Given the description of an element on the screen output the (x, y) to click on. 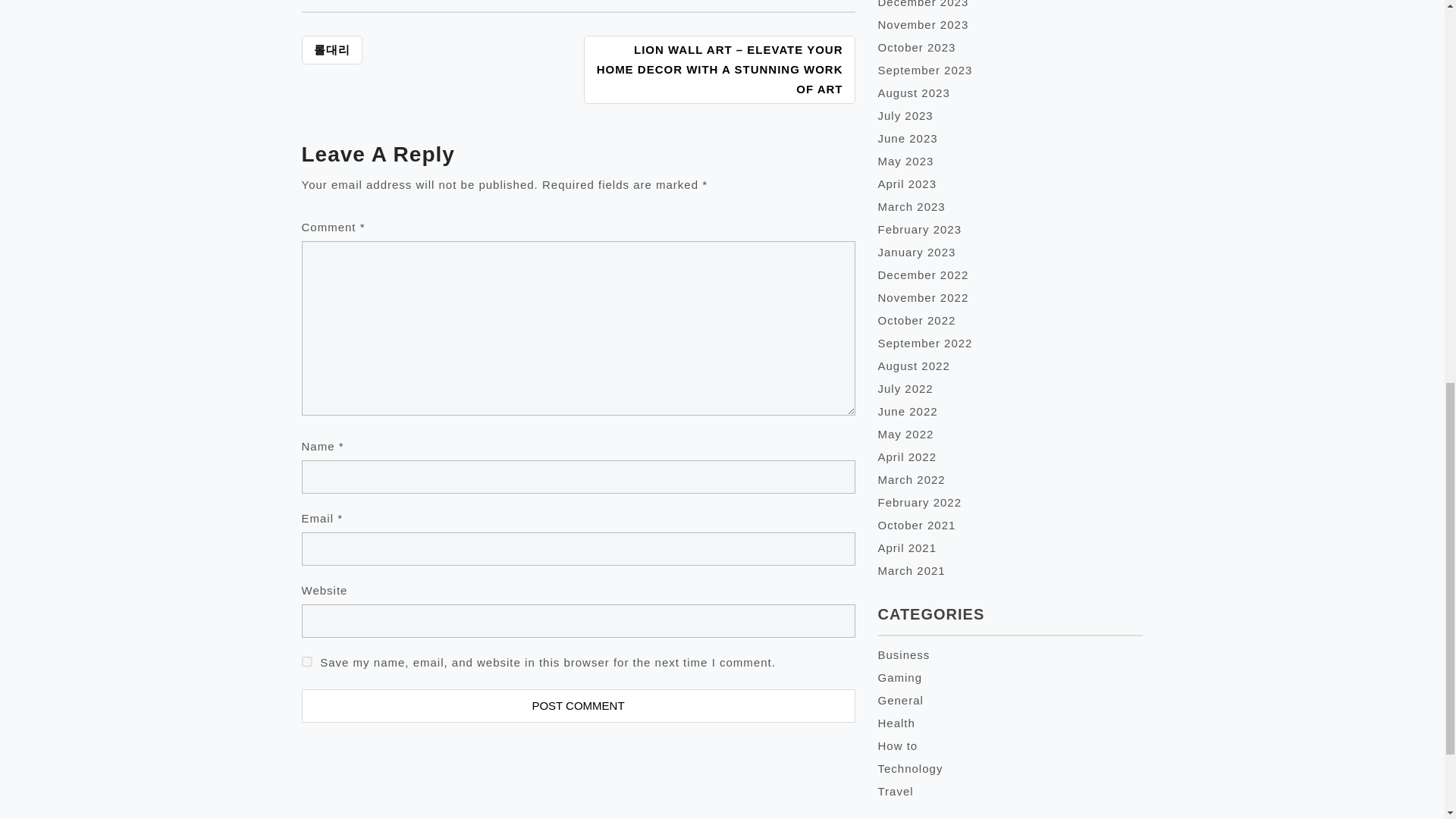
Post Comment (578, 705)
Post Comment (578, 705)
December 2023 (923, 4)
yes (307, 661)
